Given the description of an element on the screen output the (x, y) to click on. 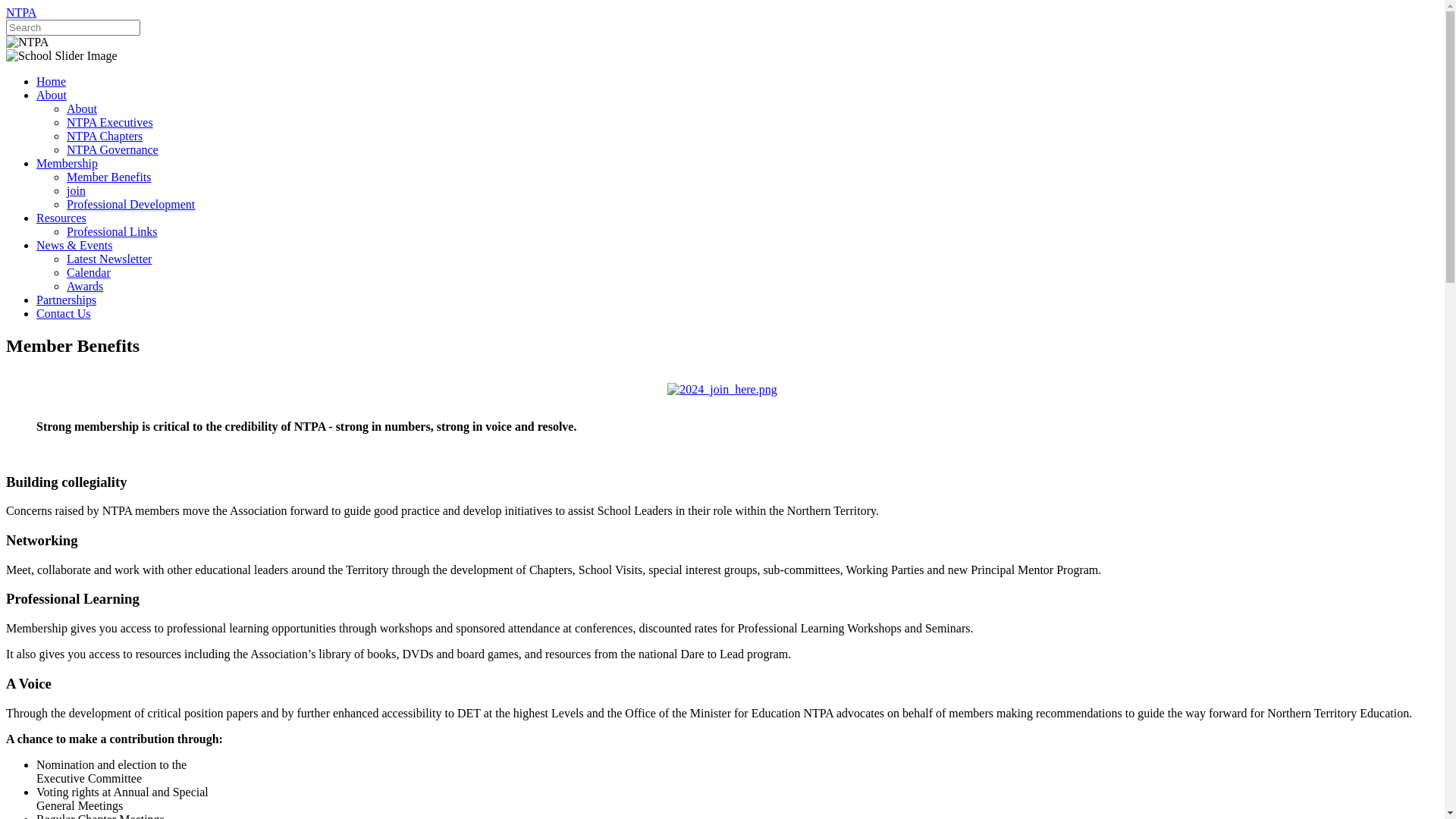
Professional Links Element type: text (111, 231)
NTPA Governance Element type: text (112, 149)
NTPA Executives Element type: text (109, 122)
About Element type: text (81, 109)
Calendar Element type: text (88, 272)
NTPA Element type: text (21, 12)
Resources Element type: text (61, 217)
Awards Element type: text (84, 286)
Search Element type: hover (73, 27)
Professional Development Element type: text (130, 204)
NTPA Chapters Element type: text (104, 136)
Partnerships Element type: text (66, 299)
News & Events Element type: text (74, 244)
Member Benefits Element type: text (108, 177)
join Element type: text (75, 190)
Membership Element type: text (66, 162)
Home Element type: text (50, 81)
Contact Us Element type: text (63, 313)
Latest Newsletter Element type: text (108, 259)
About Element type: text (51, 94)
